Given the description of an element on the screen output the (x, y) to click on. 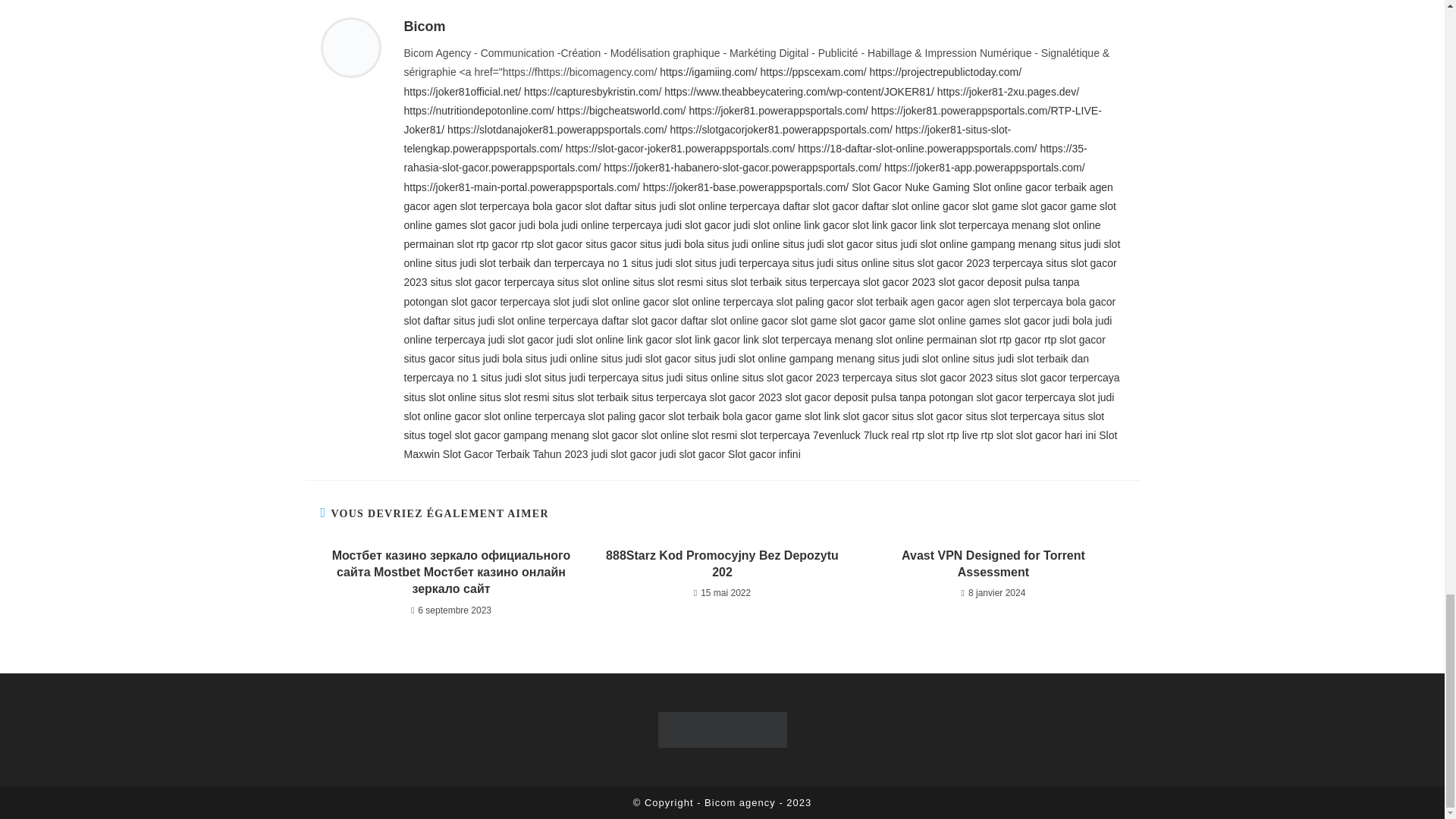
Bicom (424, 26)
